Given the description of an element on the screen output the (x, y) to click on. 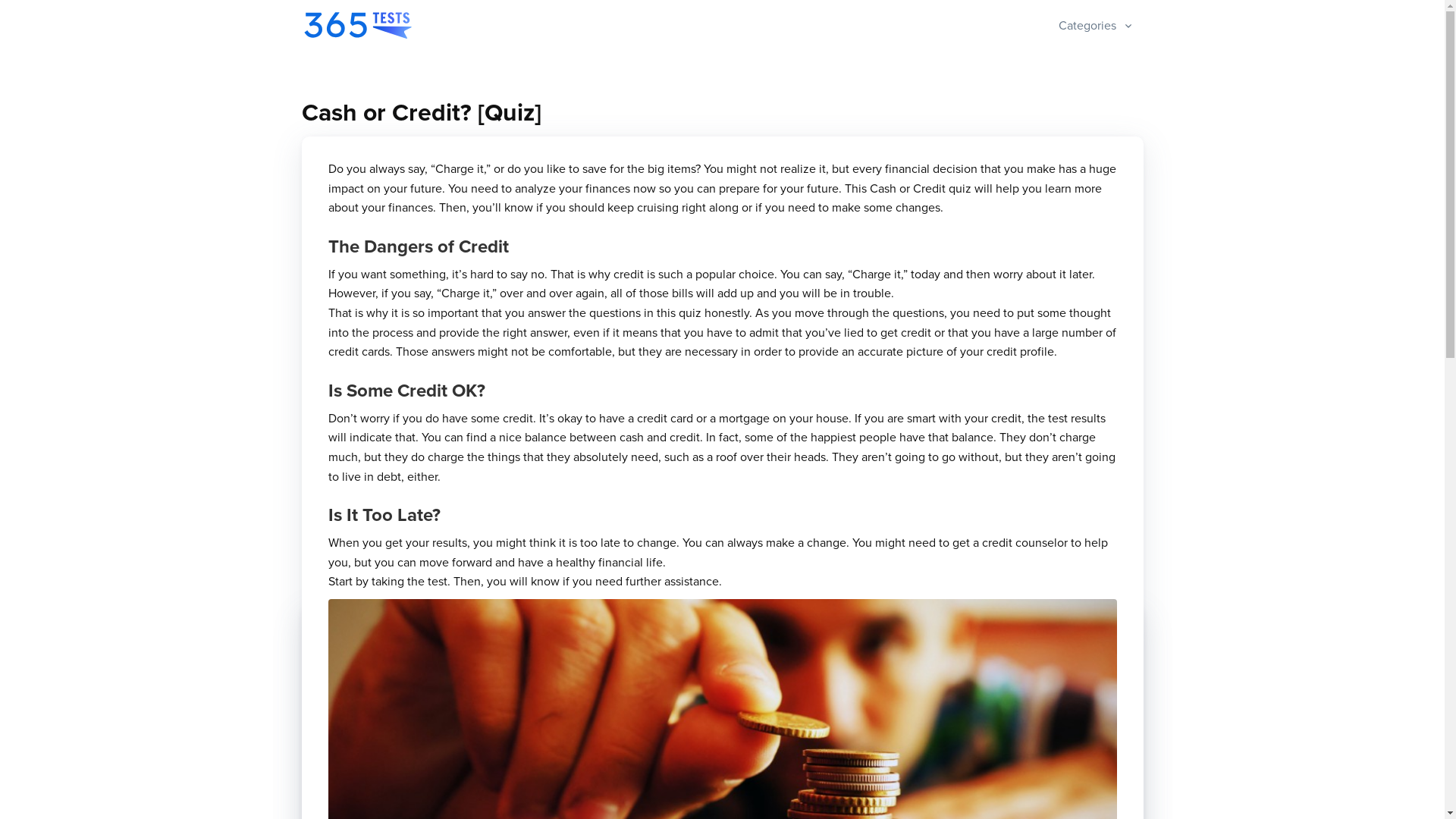
3rd party ad content Element type: hover (721, 468)
Categories Element type: text (1100, 25)
